Given the description of an element on the screen output the (x, y) to click on. 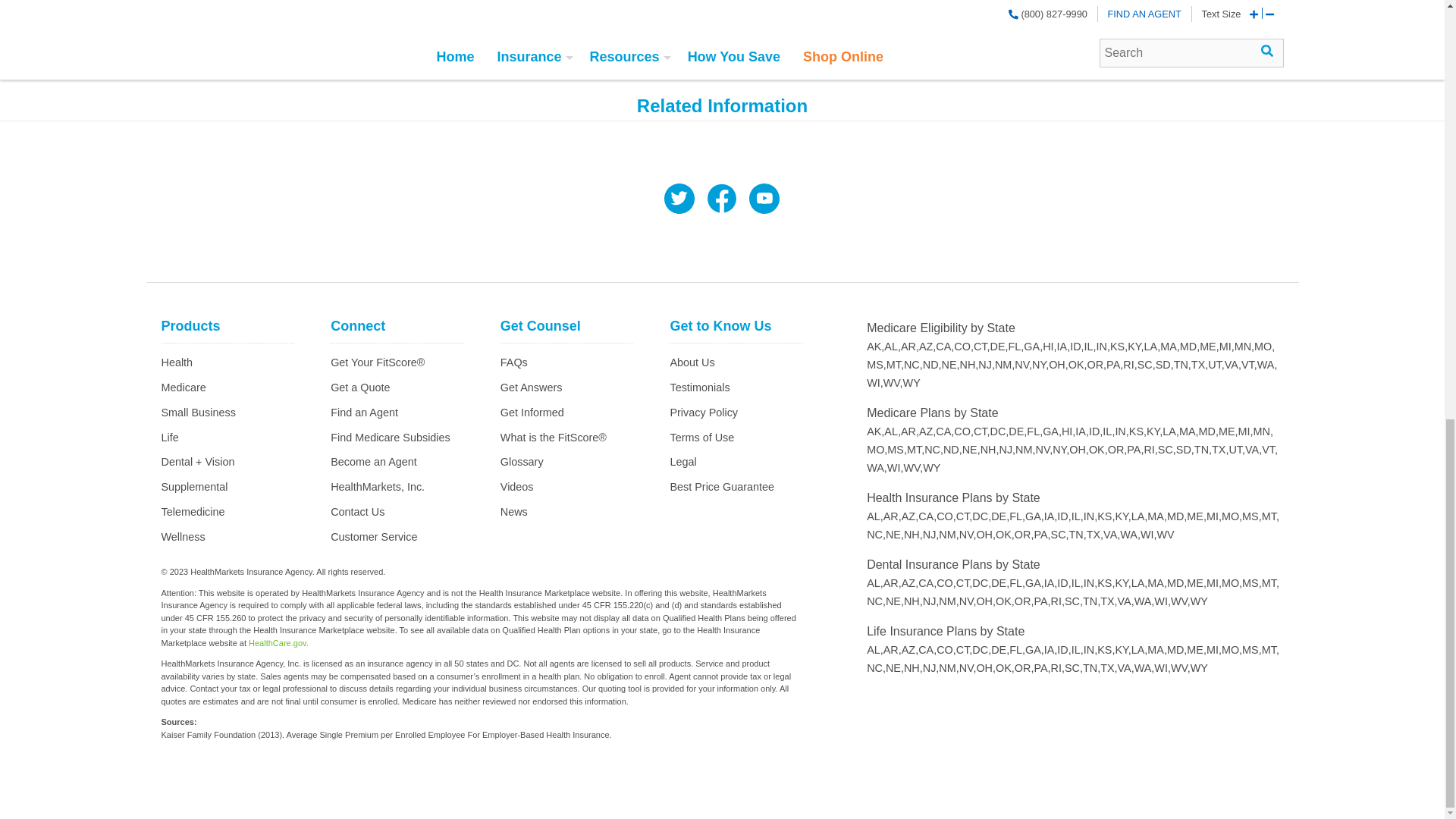
Medicare Eligibility in Kansas (1117, 346)
Medicare Eligibility in Hawaii (1049, 346)
Medicare Eligibility in Colorado (963, 346)
Medicare Eligibility in Delaware (999, 346)
Twitter (679, 200)
Medicare Eligibility in Georgia (1032, 346)
Medicare Eligibility in Iowa (1063, 346)
Facebook (721, 200)
Medicare Eligibility in Indiana (1102, 346)
Medicare Eligibility in Arkansas (909, 346)
